Given the description of an element on the screen output the (x, y) to click on. 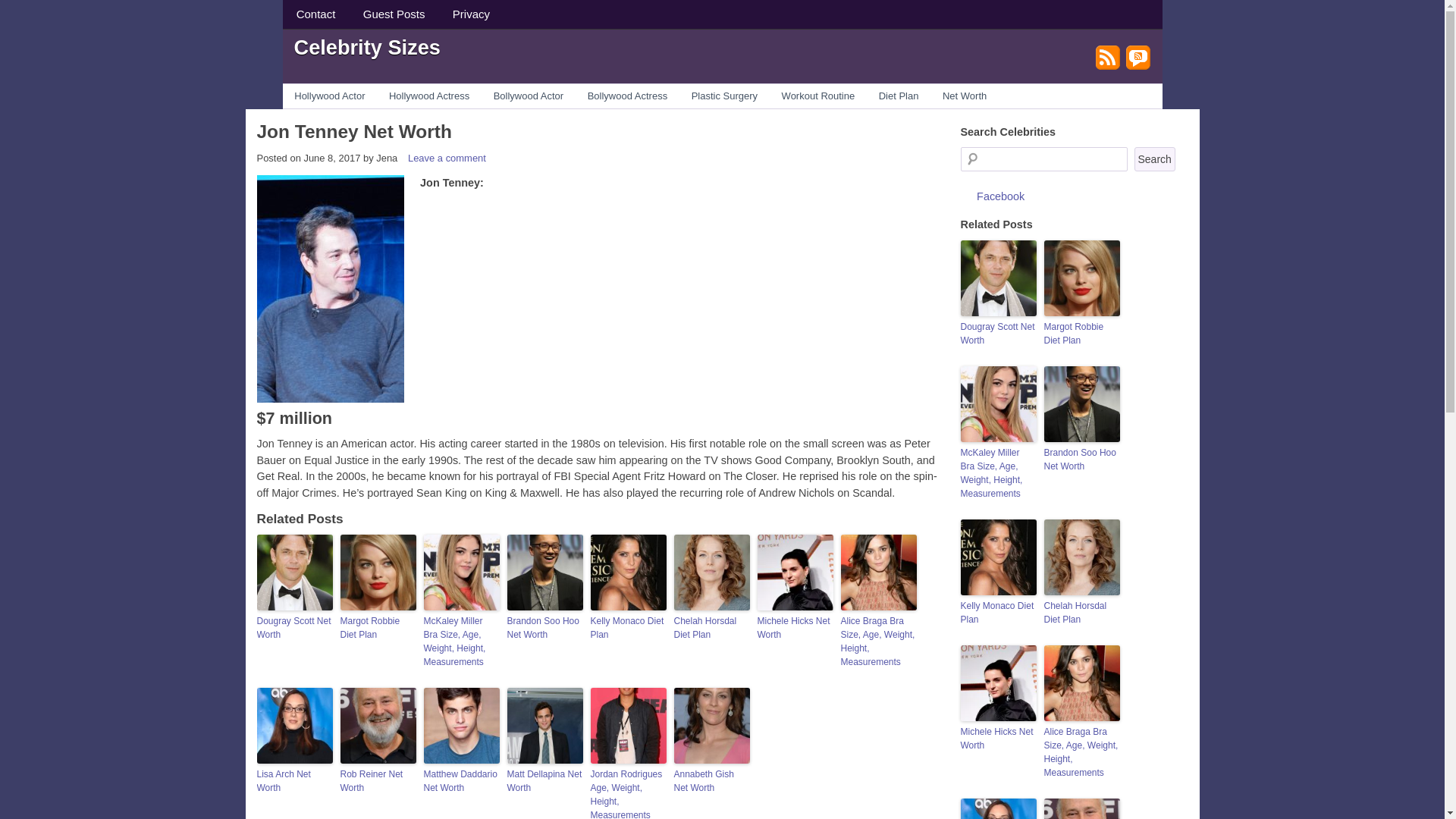
June 8, 2017 (330, 157)
Privacy (471, 14)
Contact (315, 14)
Guest Posts (394, 14)
Celebrity Sizes (367, 46)
Celebrity Sizes (367, 46)
Chelah Horsdal Diet Plan (710, 627)
10:39 am (330, 157)
Hollywood Actress (429, 96)
Jena (386, 157)
Alice Braga Bra Size, Age, Weight, Height, Measurements (877, 641)
Leave a comment (446, 157)
Plastic Surgery (724, 96)
Margot Robbie Diet Plan (376, 627)
Lisa Arch Net Worth (293, 780)
